Given the description of an element on the screen output the (x, y) to click on. 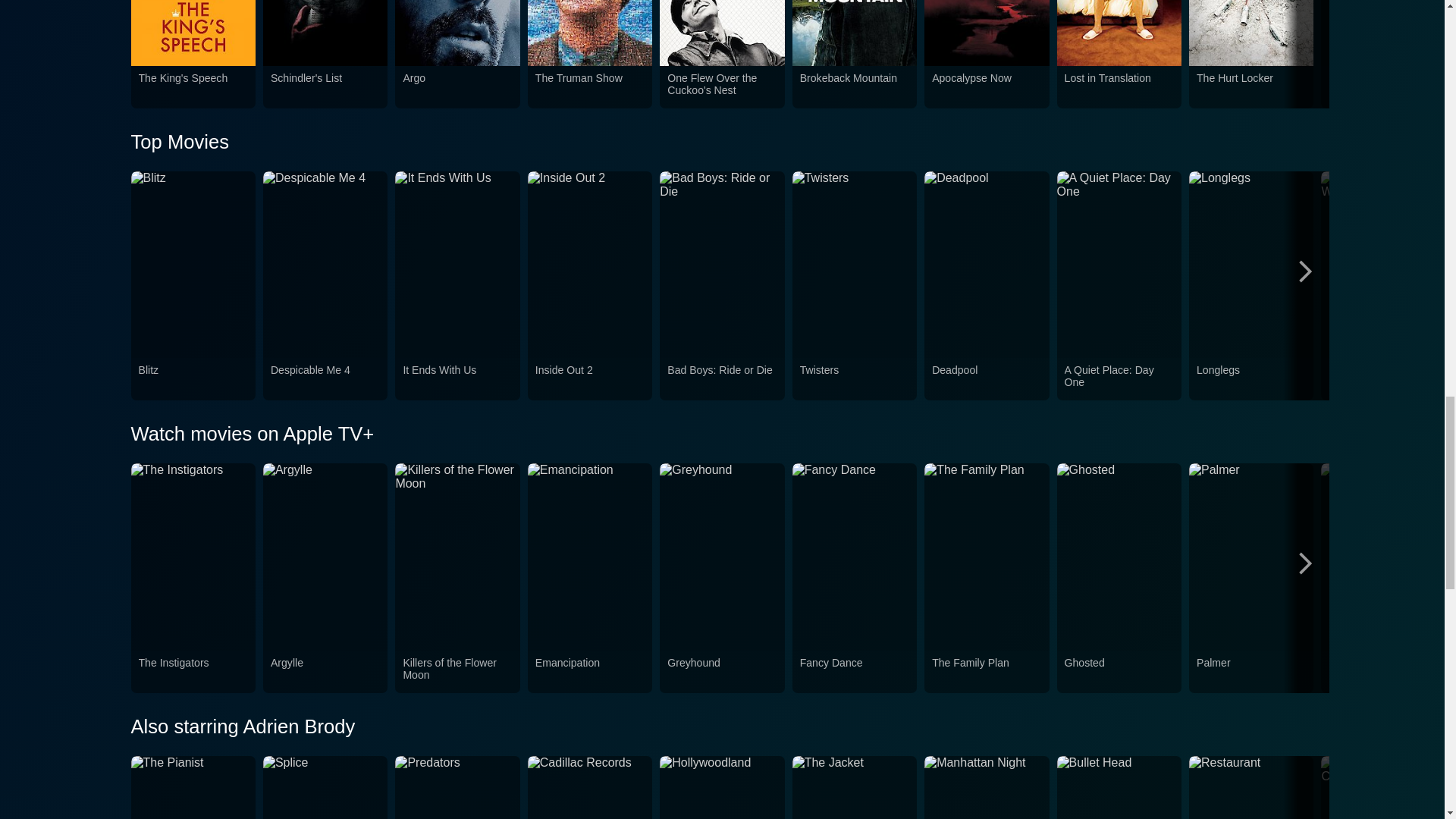
Bad Boys: Ride or Die (721, 378)
The King's Speech (192, 87)
Argo (457, 87)
It Ends With Us (457, 378)
The Hurt Locker (1251, 87)
Twisters (853, 378)
Hotel Rwanda (1382, 87)
One Flew Over the Cuckoo's Nest (721, 87)
Apocalypse Now (986, 87)
The Truman Show (590, 87)
